Given the description of an element on the screen output the (x, y) to click on. 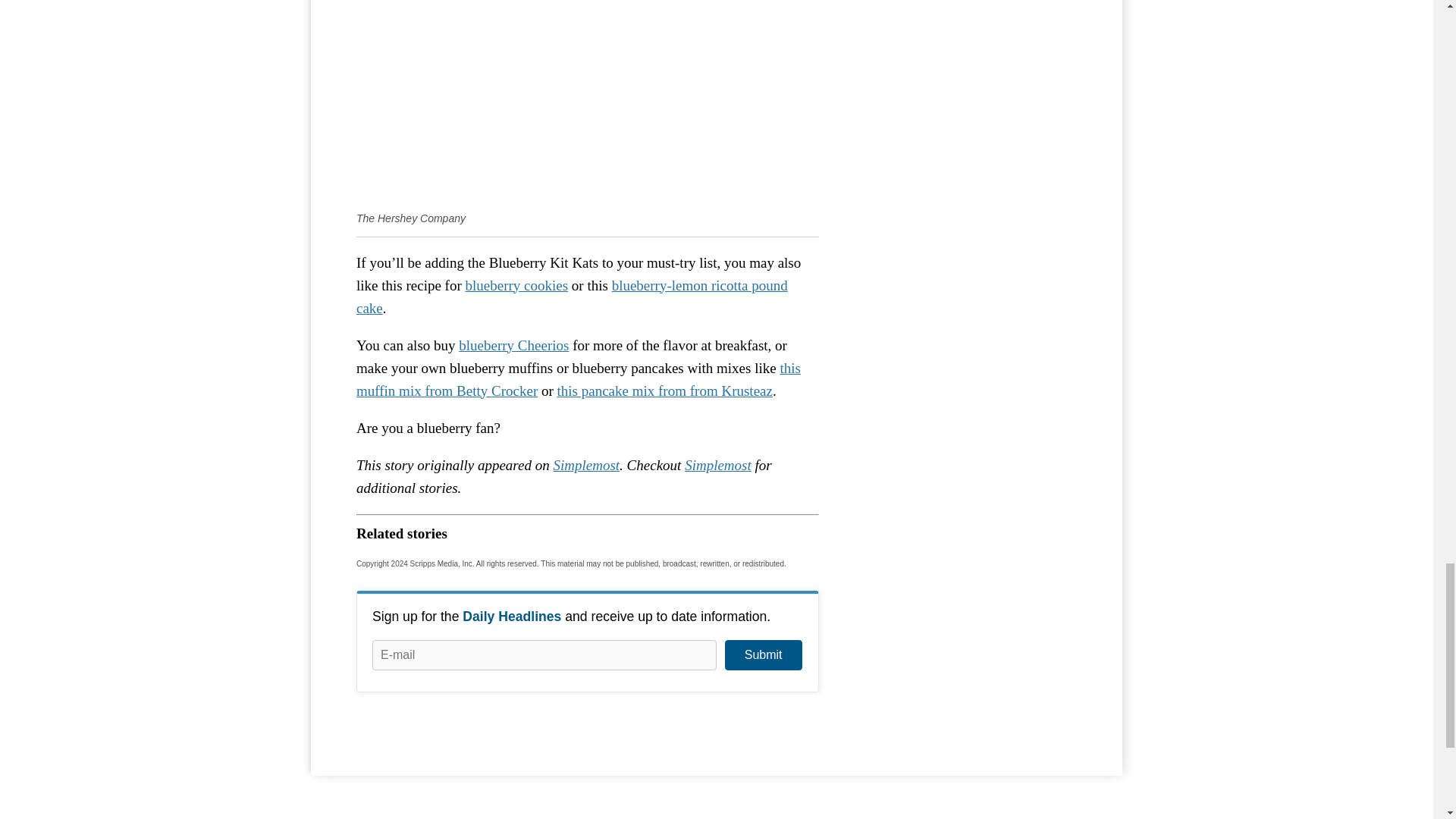
Submit (763, 654)
